Given the description of an element on the screen output the (x, y) to click on. 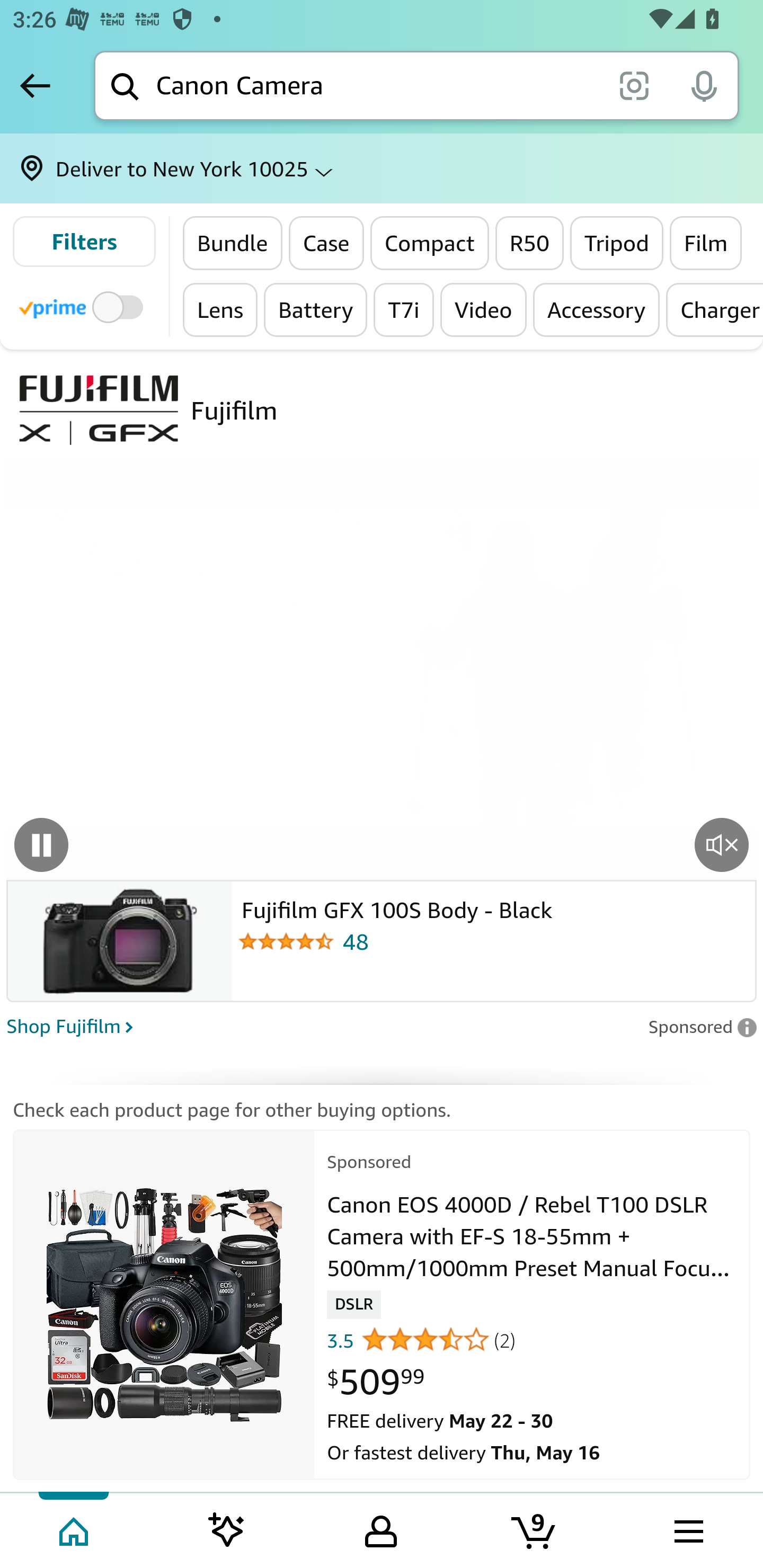
Back (35, 85)
scan it (633, 85)
Deliver to New York 10025 ⌵ (381, 168)
Filters (83, 241)
Bundle (233, 242)
Case (325, 242)
Compact (428, 242)
R50 (529, 242)
Tripod (616, 242)
Film (705, 242)
Toggle to filter by Prime products Prime Eligible (83, 306)
Lens (221, 309)
Battery (315, 309)
T7i (403, 309)
Video (482, 309)
Accessory (596, 309)
Charger (714, 309)
Fujifilm (234, 409)
Mute Sponsored Video (721, 844)
Fujifilm GFX 100S Body - Black (493, 906)
48 (493, 941)
Shop Fujifilm  Shop  Fujifilm  (321, 1024)
Leave feedback on Sponsored ad (701, 1027)
Home Tab 1 of 5 (75, 1529)
Inspire feed Tab 2 of 5 (227, 1529)
Your Amazon.com Tab 3 of 5 (380, 1529)
Cart 9 items Tab 4 of 5 9 (534, 1529)
Browse menu Tab 5 of 5 (687, 1529)
